Given the description of an element on the screen output the (x, y) to click on. 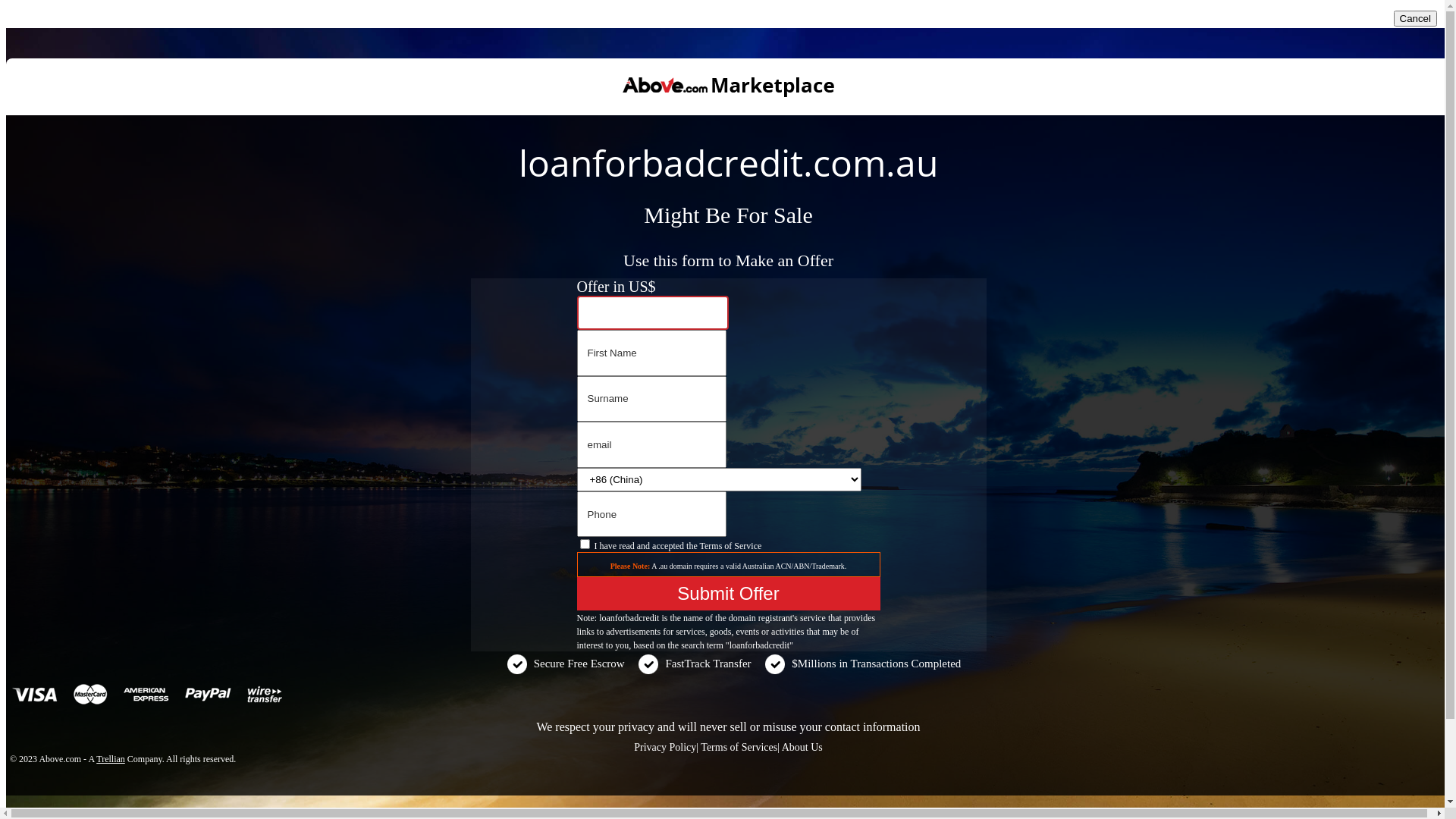
Cancel Element type: text (1415, 18)
About Us Element type: text (801, 747)
Submit Offer Element type: text (727, 593)
Privacy Policy Element type: text (664, 747)
Terms of Services Element type: text (738, 747)
Trellian Element type: text (110, 758)
Terms Element type: text (710, 545)
